Given the description of an element on the screen output the (x, y) to click on. 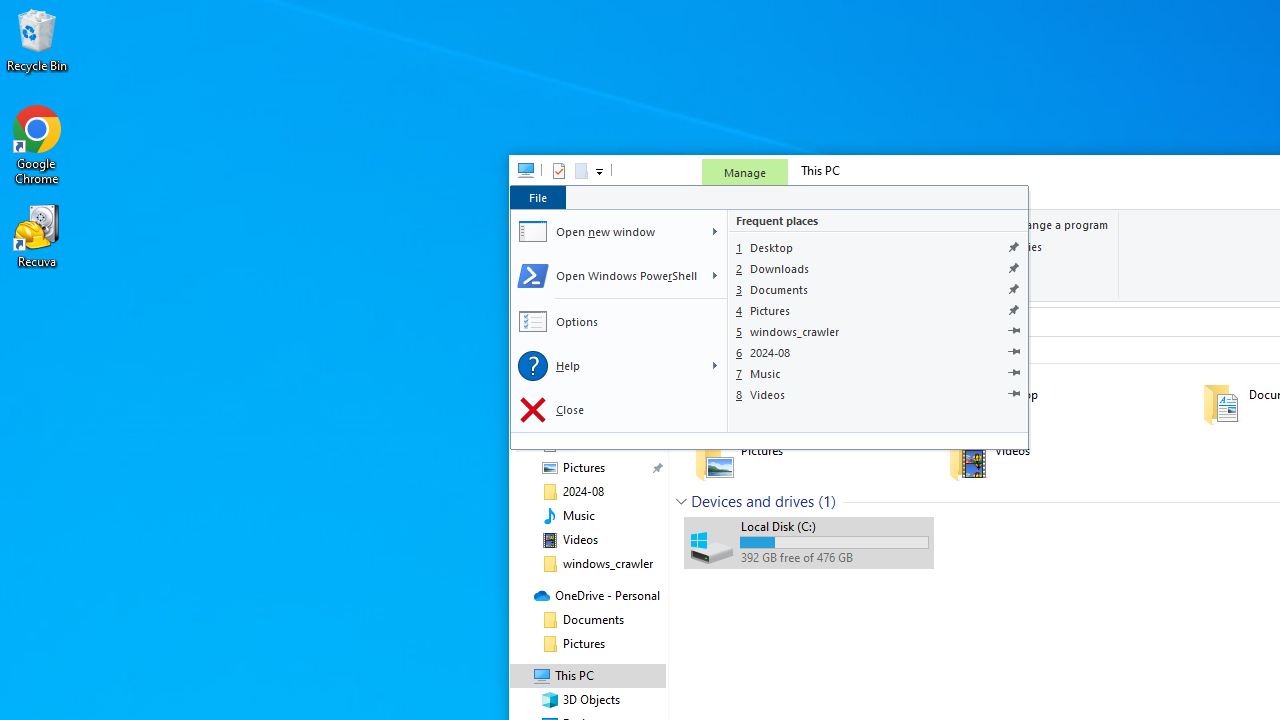
L (714, 366)
Open new window (606, 232)
Desktop (878, 246)
Options (618, 322)
Videos (878, 393)
S (714, 276)
Documents (878, 289)
W (714, 232)
Close (618, 410)
Help (606, 366)
Downloads (878, 268)
windows_crawler (878, 331)
Music (878, 372)
File tab (537, 196)
Pictures (878, 310)
